Given the description of an element on the screen output the (x, y) to click on. 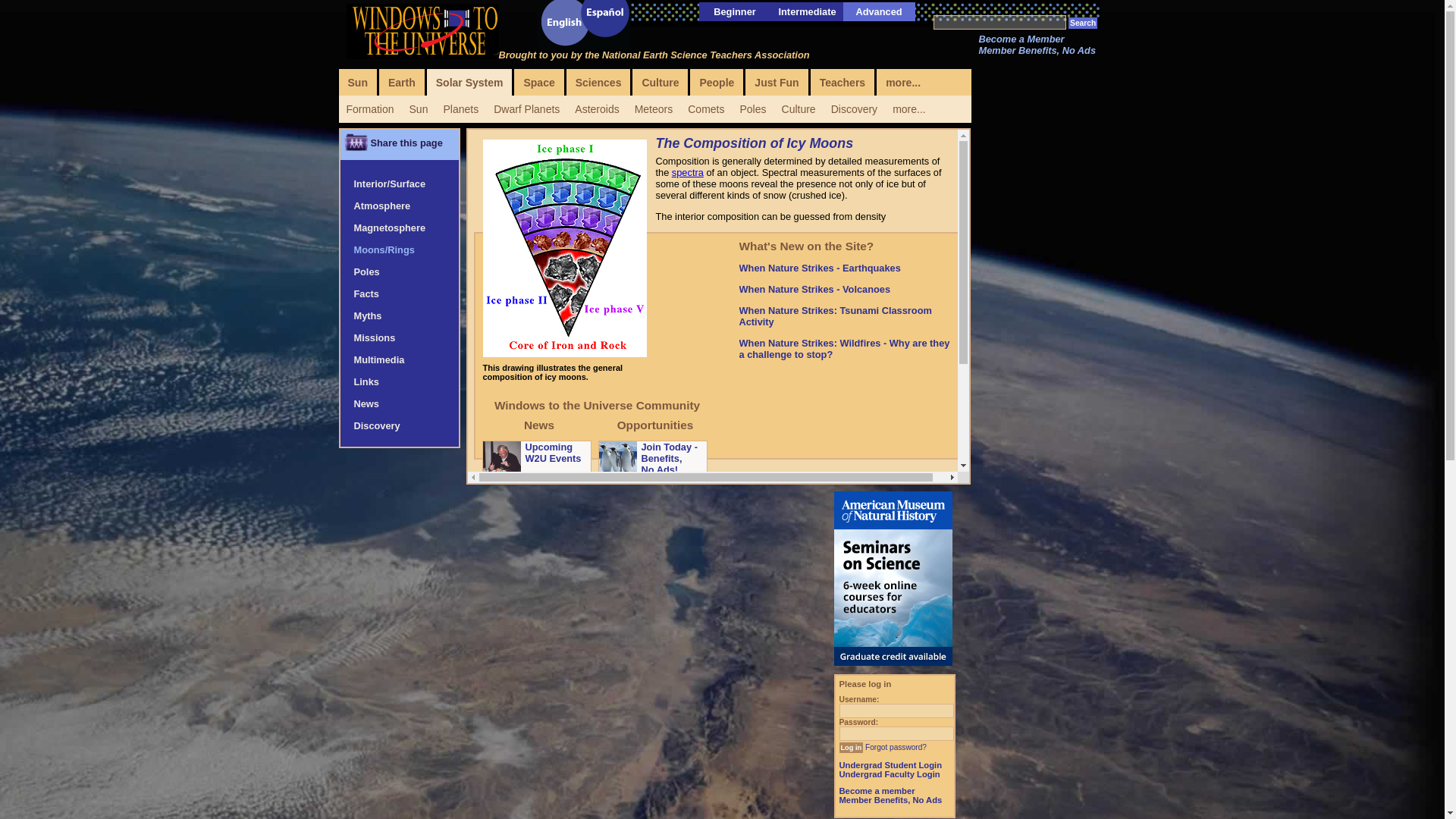
Advanced (878, 11)
Search (1082, 22)
Search (1082, 22)
Sun (356, 82)
Intermediate (806, 11)
Earth (401, 82)
Become a Member (1021, 39)
Beginner (734, 11)
Search (1082, 22)
Log in (850, 747)
Member Benefits, No Ads (1037, 50)
